Given the description of an element on the screen output the (x, y) to click on. 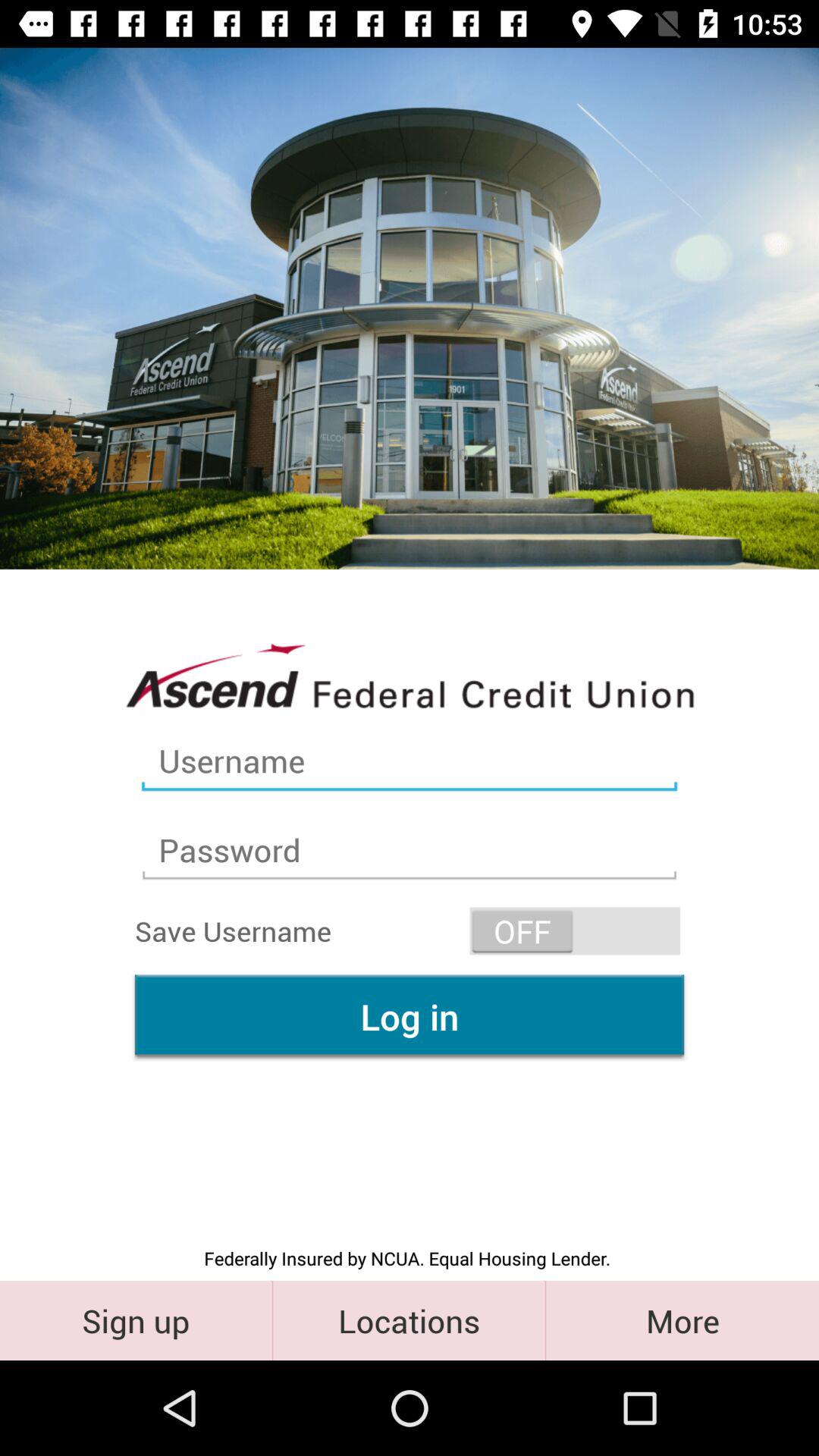
click the icon above the log in item (574, 930)
